Given the description of an element on the screen output the (x, y) to click on. 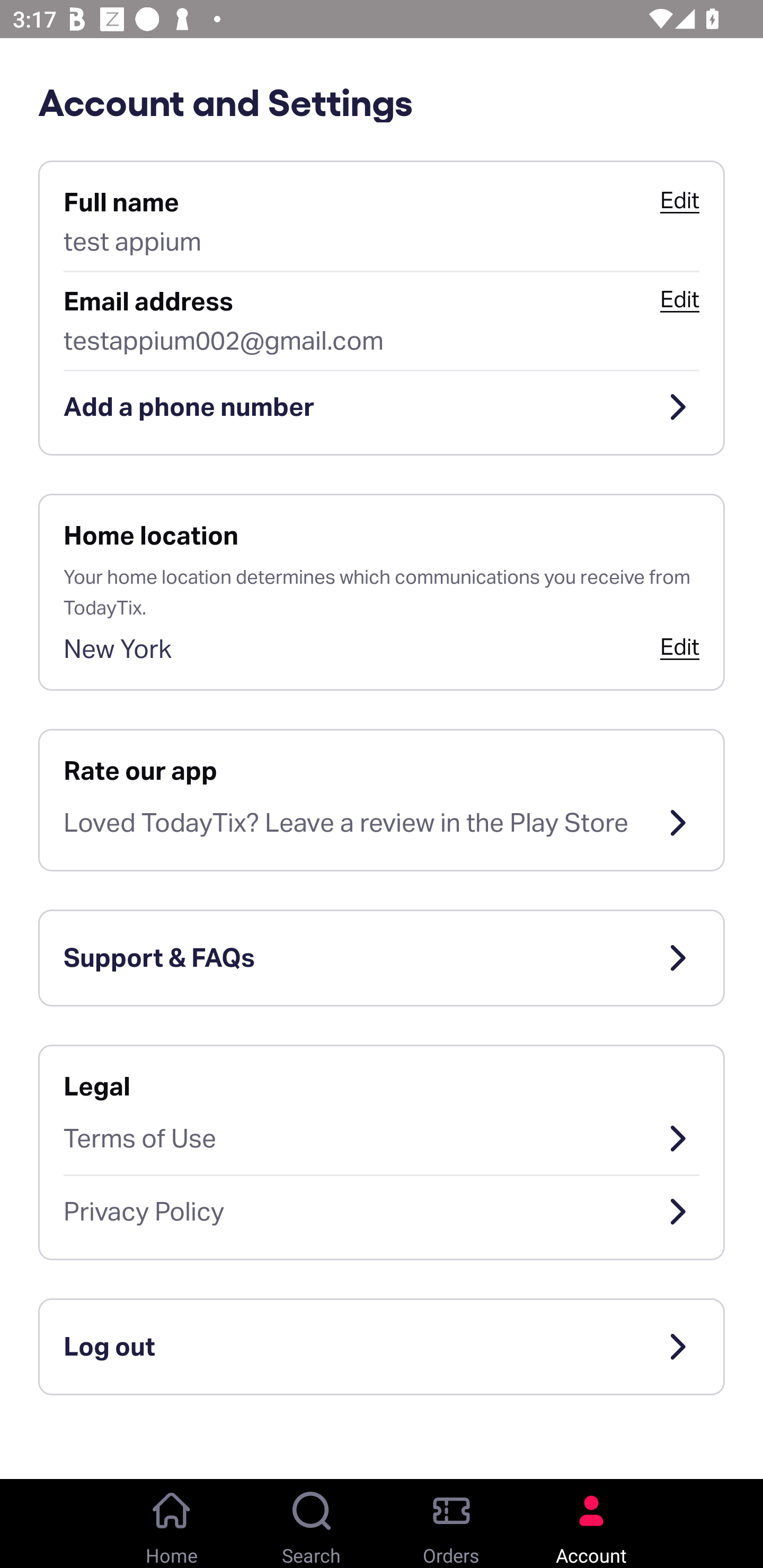
Edit (679, 200)
Edit (679, 299)
Add a phone number (381, 406)
Edit (679, 646)
Loved TodayTix? Leave a review in the Play Store (381, 822)
Support & FAQs (381, 957)
Terms of Use (381, 1137)
Privacy Policy (381, 1211)
Log out (381, 1346)
Home (171, 1523)
Search (311, 1523)
Orders (451, 1523)
